Given the description of an element on the screen output the (x, y) to click on. 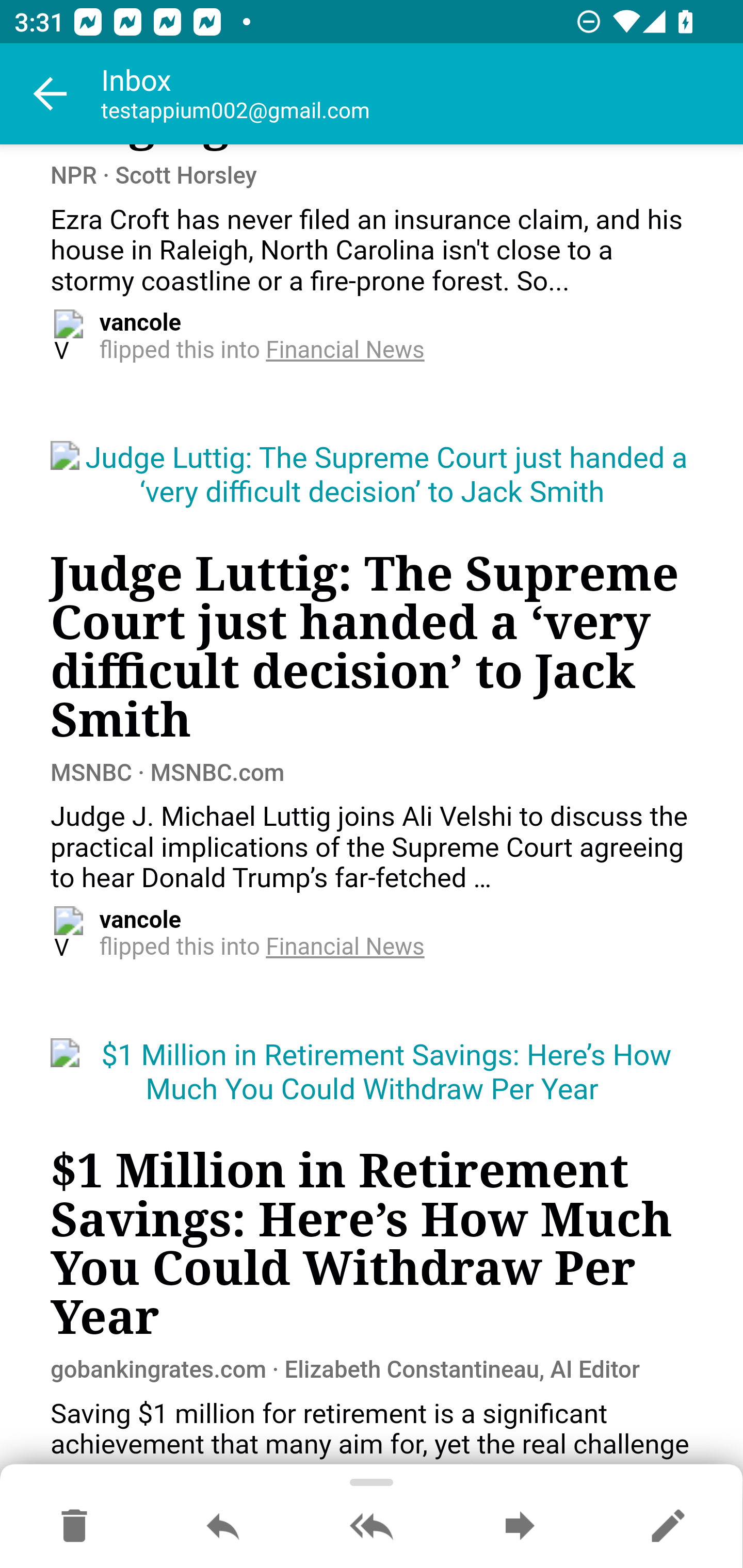
Navigate up (50, 93)
Inbox testappium002@gmail.com (422, 93)
Financial News (345, 350)
Financial News (345, 946)
Move to Deleted (74, 1527)
Reply (222, 1527)
Reply all (371, 1527)
Forward (519, 1527)
Reply as new (667, 1527)
